Given the description of an element on the screen output the (x, y) to click on. 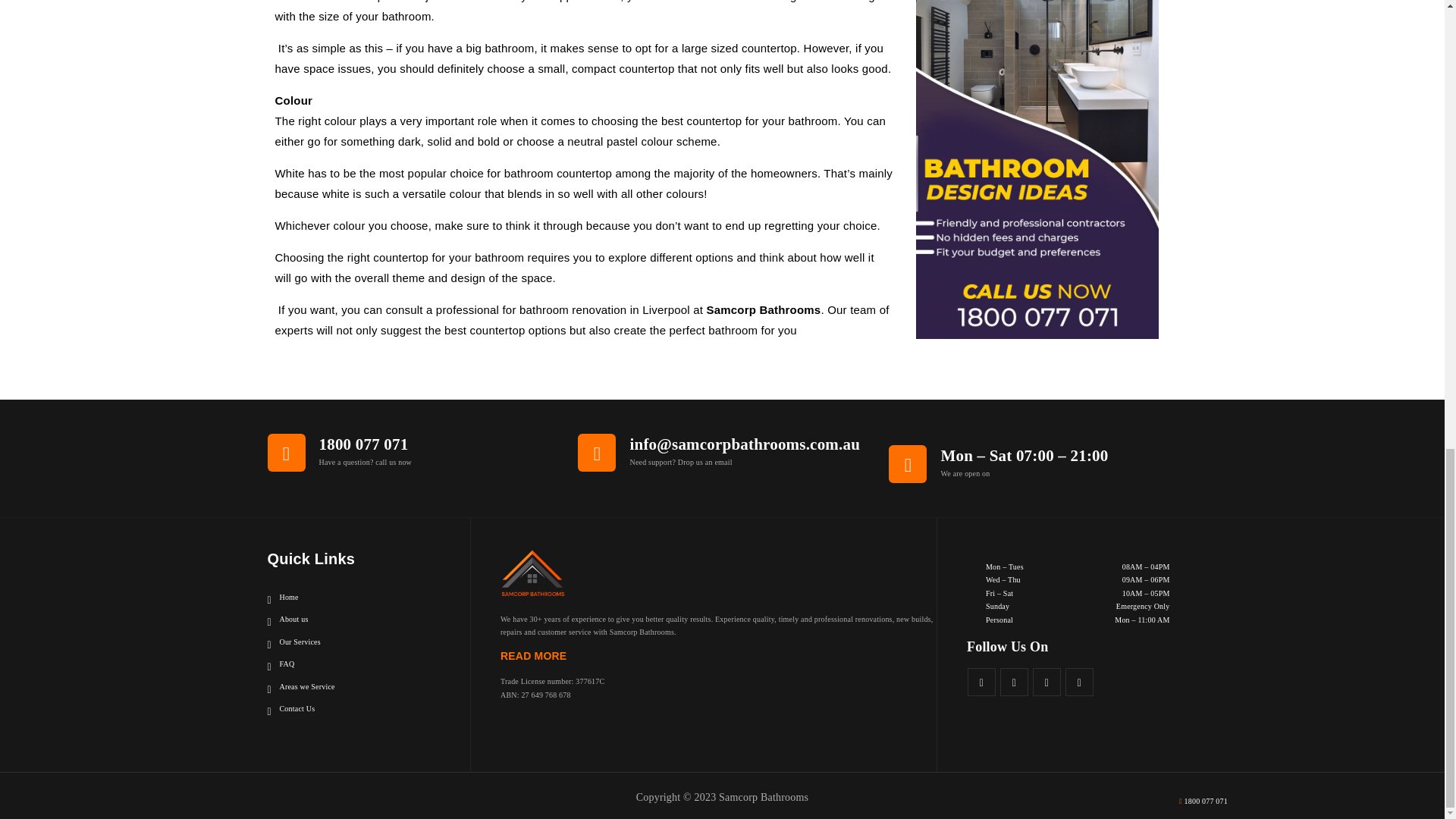
Home (282, 597)
FAQ (280, 663)
About us (286, 619)
Areas we Service (300, 686)
READ MORE (536, 655)
Contact Us (290, 708)
Our Services (293, 642)
